Given the description of an element on the screen output the (x, y) to click on. 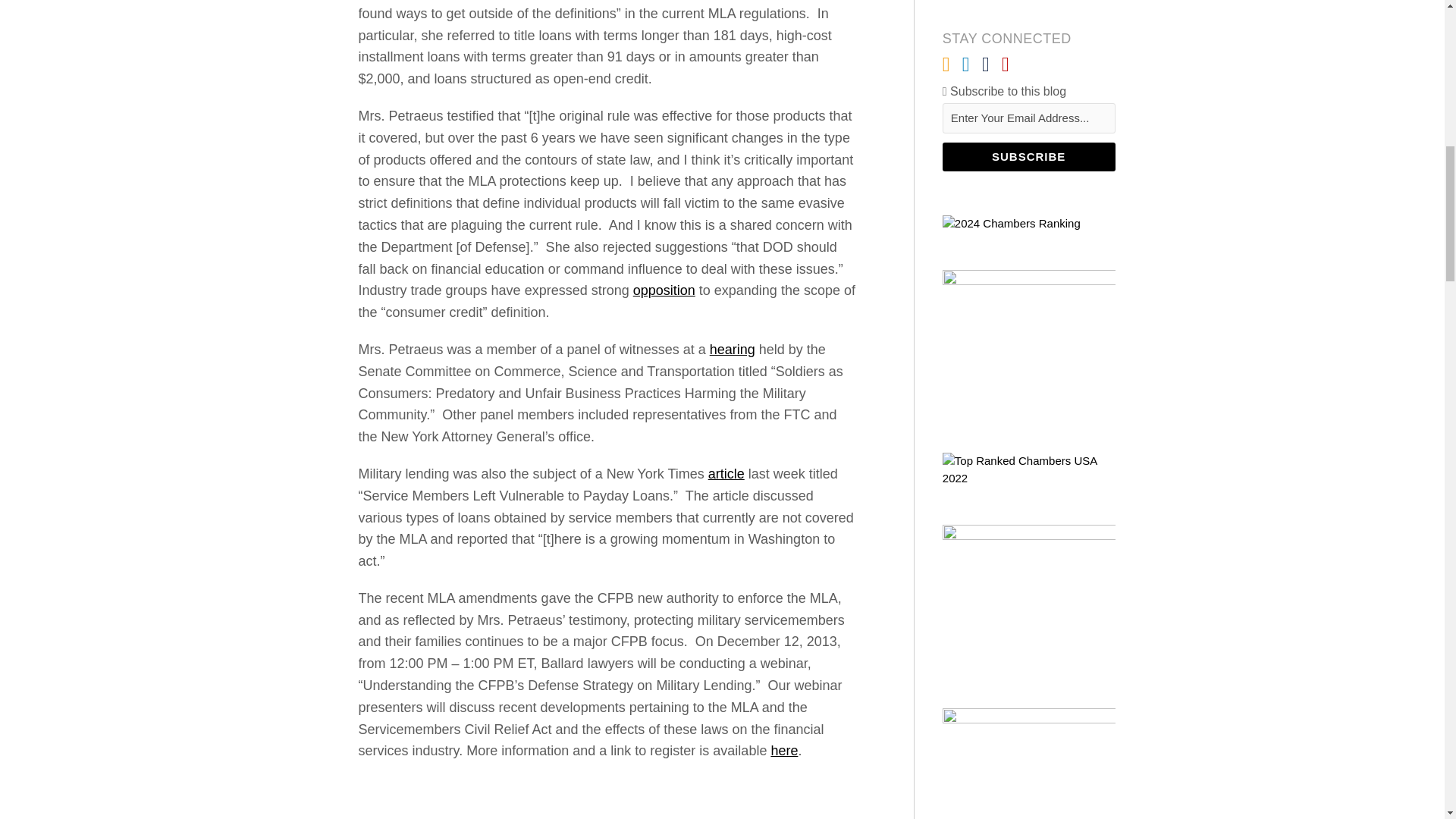
Ballard webinar invite (783, 750)
Subscribe (1028, 156)
hearing (732, 349)
Committee website (732, 349)
article (725, 473)
opposition (664, 290)
here (783, 750)
Kaplinsky blog post (664, 290)
NY Times article (725, 473)
